Given the description of an element on the screen output the (x, y) to click on. 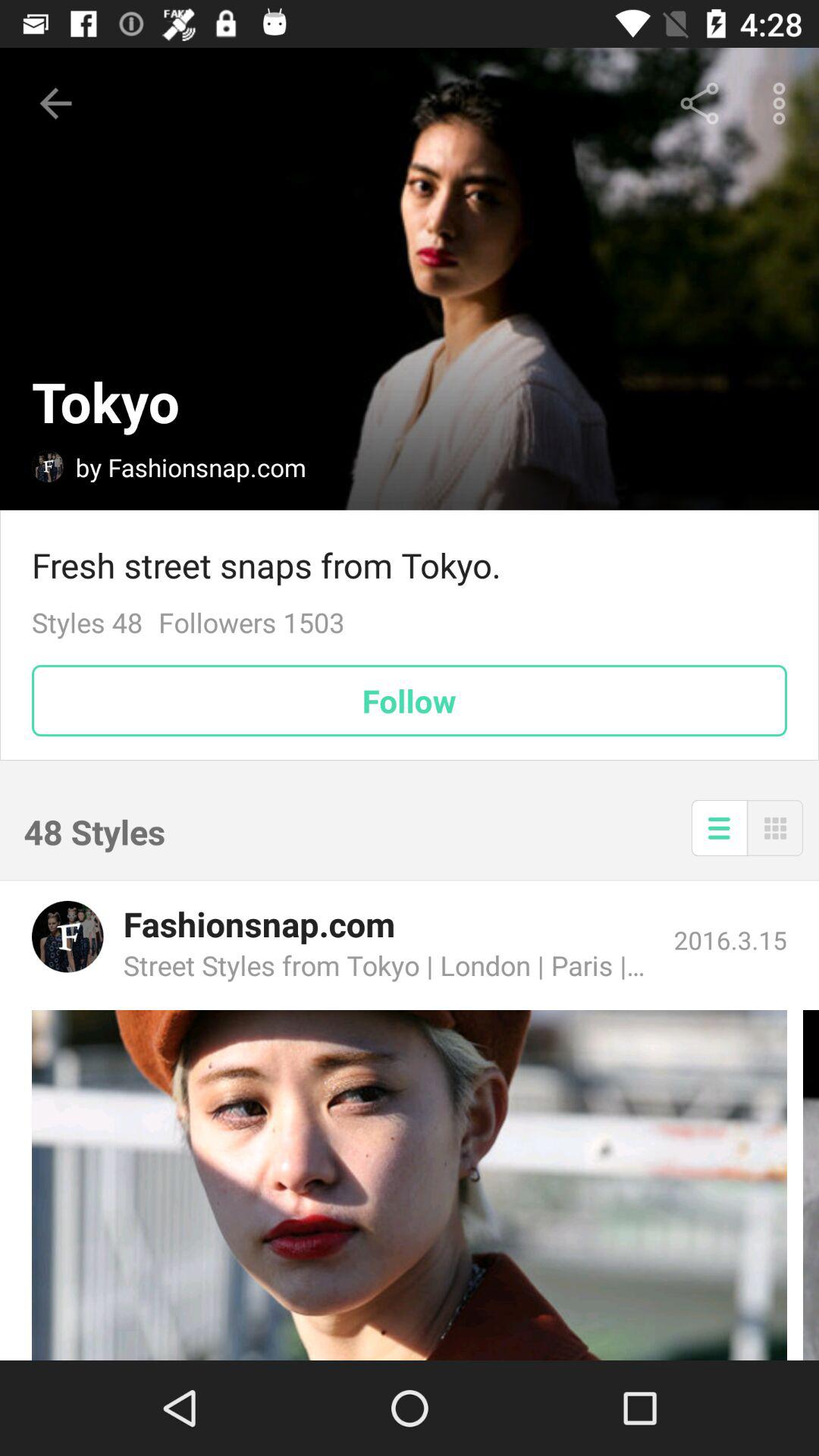
change view to tiled (775, 827)
